Given the description of an element on the screen output the (x, y) to click on. 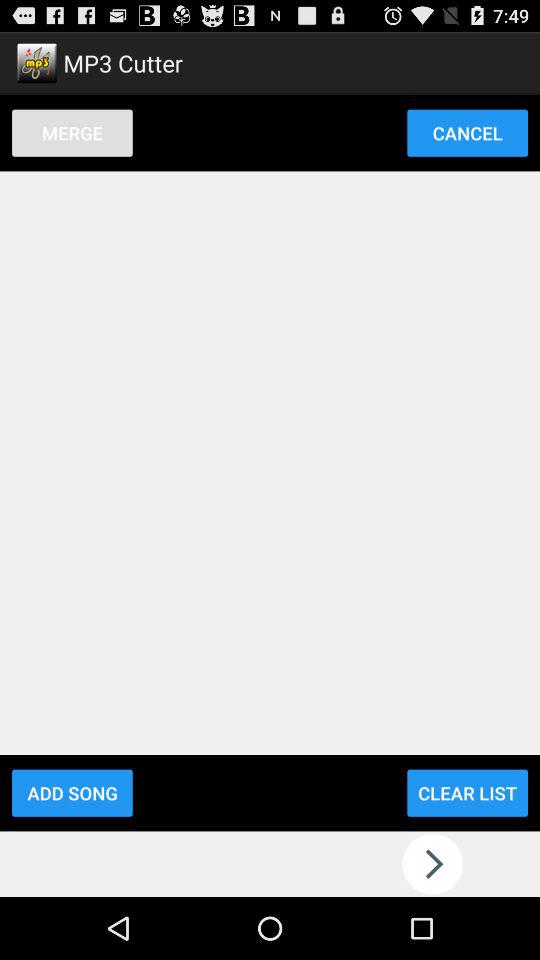
tap the merge icon (72, 132)
